Given the description of an element on the screen output the (x, y) to click on. 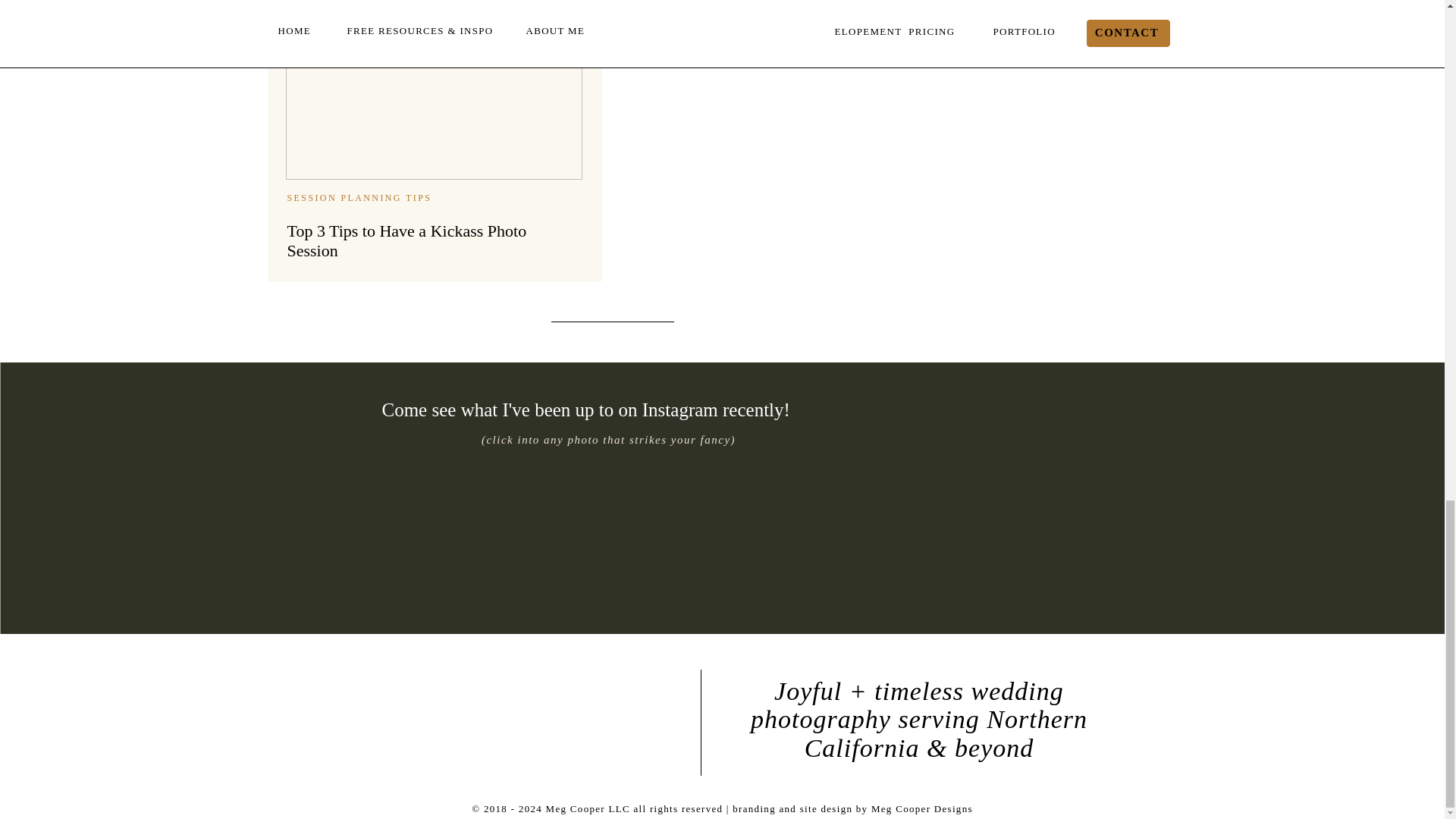
Top 3 Tips to Have a Kickass Photo Session (432, 89)
